Given the description of an element on the screen output the (x, y) to click on. 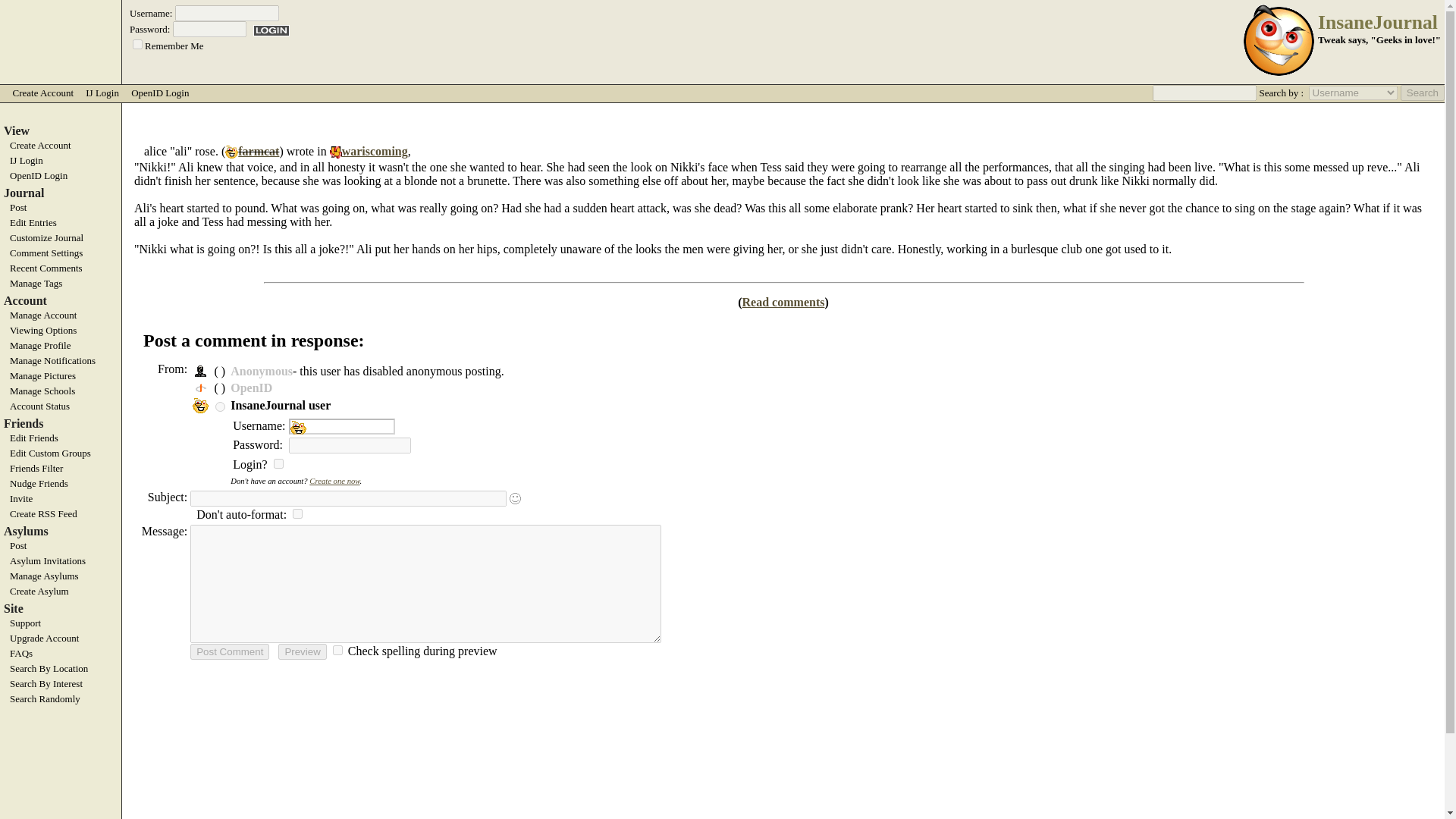
Edit Custom Groups (60, 453)
Customize Journal (60, 237)
1 (297, 512)
Manage Profile (60, 345)
InsaneJournal (1377, 22)
Manage Schools (60, 390)
Manage Asylums (60, 576)
1 (337, 649)
Tweak says, "Geeks in love!" (1379, 39)
1 (137, 44)
FAQs (60, 653)
Manage Pictures (60, 376)
IJ Login (60, 160)
Account Status (60, 406)
Edit Entries (60, 223)
